Given the description of an element on the screen output the (x, y) to click on. 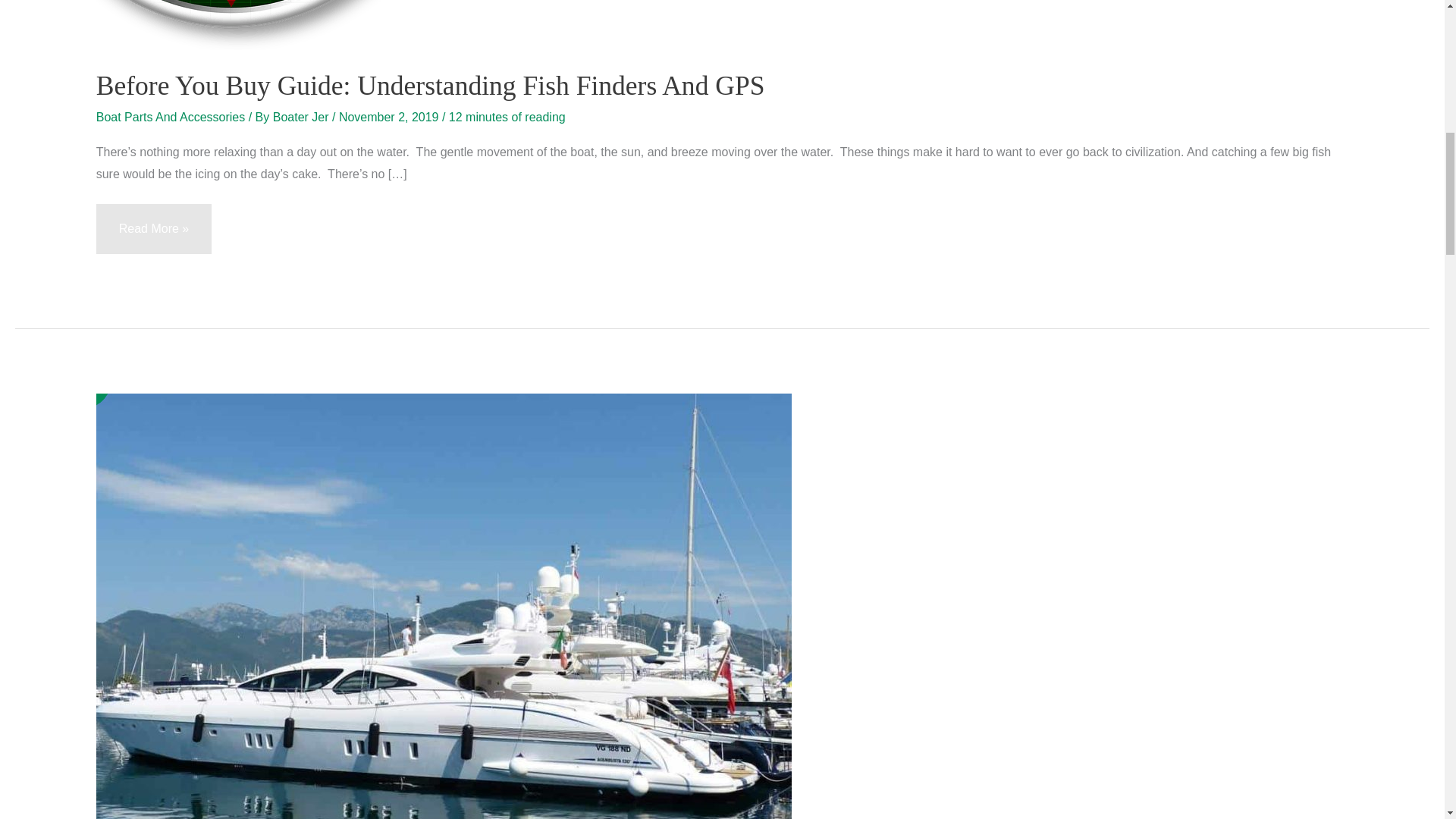
Boat Parts And Accessories (171, 116)
View all posts by Boater Jer (302, 116)
Boater Jer (302, 116)
Before You Buy Guide: Understanding Fish Finders And GPS (430, 85)
